Given the description of an element on the screen output the (x, y) to click on. 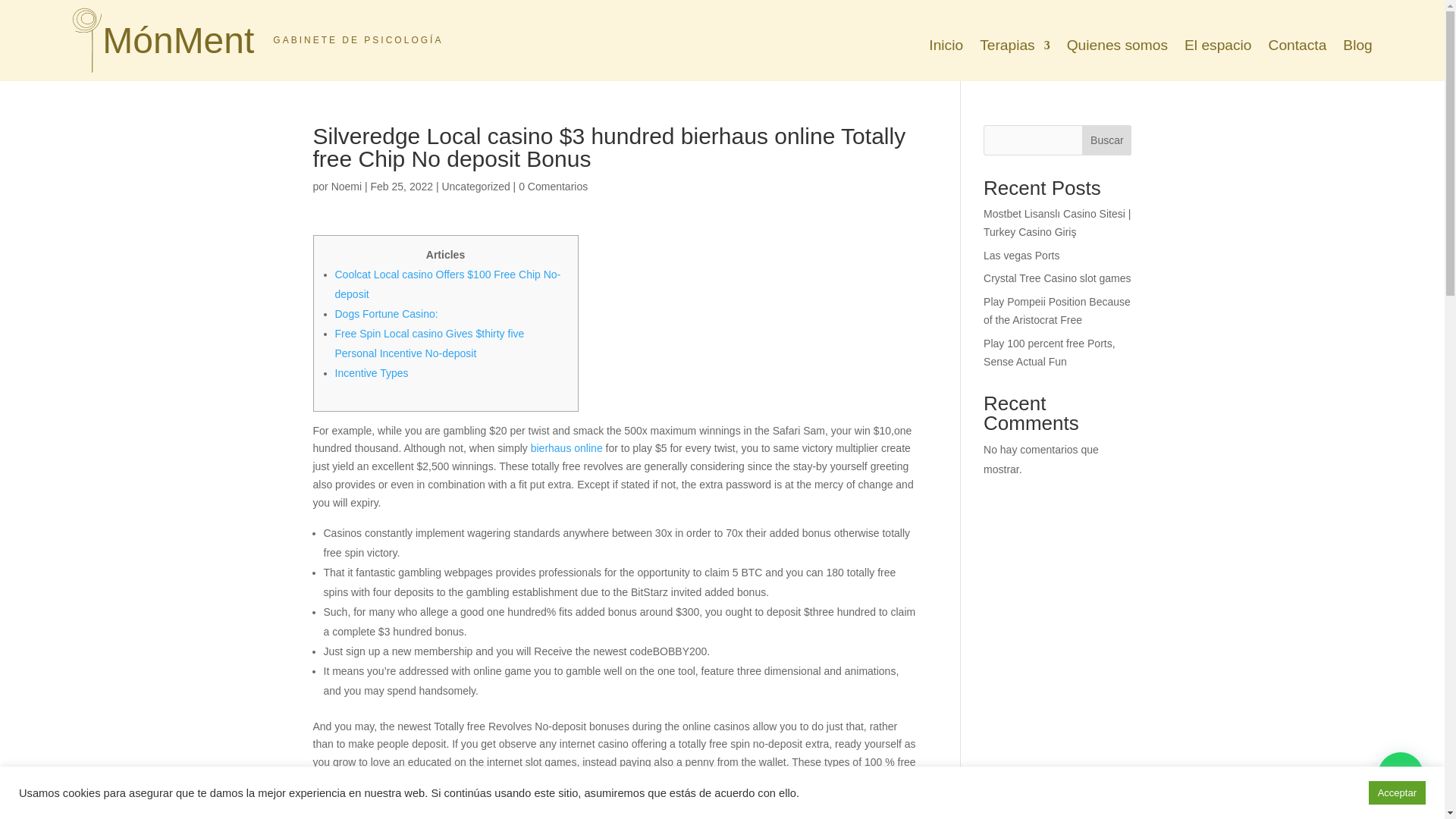
Blog (1356, 47)
Contacta (1297, 47)
Terapias (1014, 47)
El espacio (1218, 47)
Inicio (945, 47)
Quienes somos (1117, 47)
Mensajes de Noemi (346, 186)
